Given the description of an element on the screen output the (x, y) to click on. 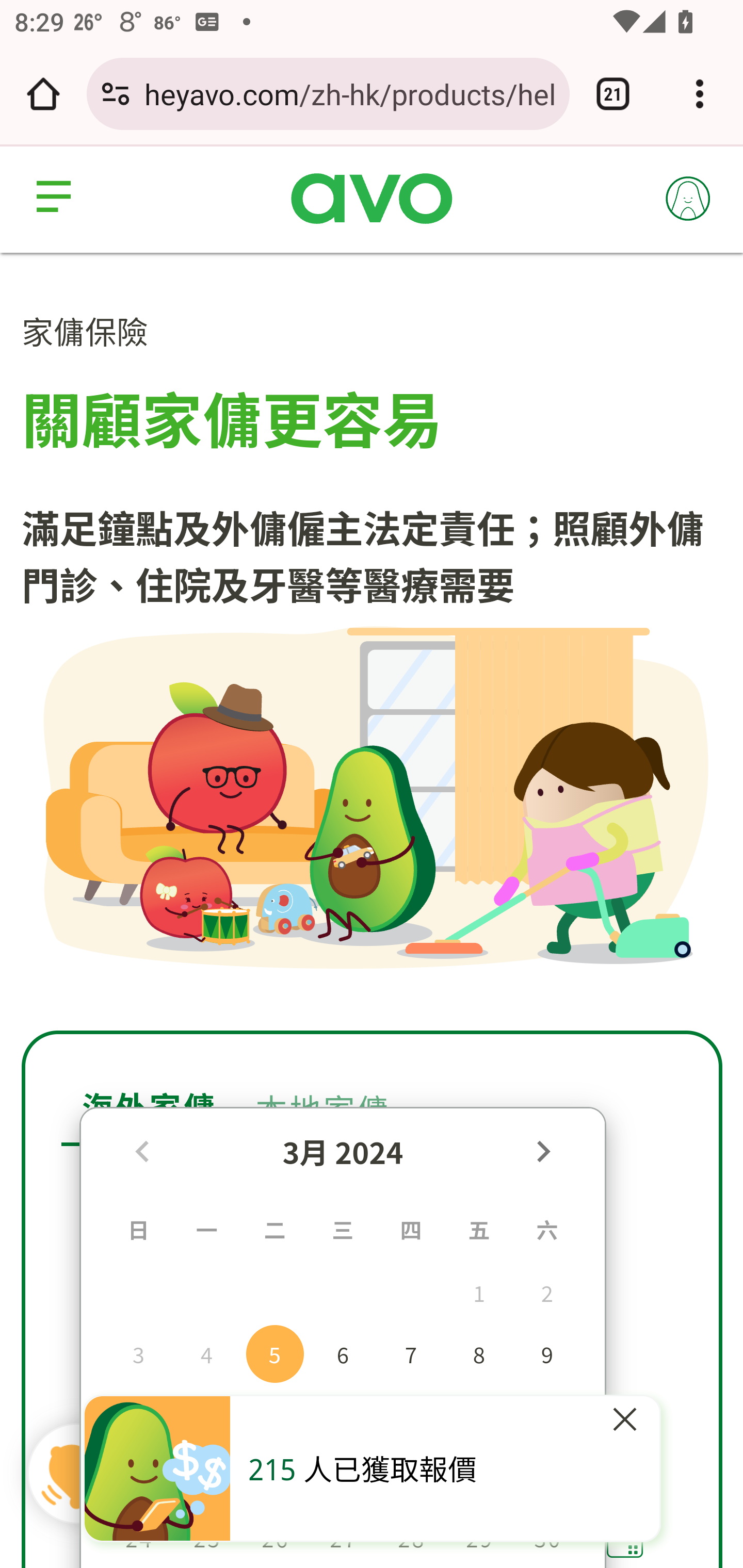
Open the home page (43, 93)
Connection is secure (115, 93)
Switch or close tabs (612, 93)
Customize and control Google Chrome (699, 93)
menu.afb2dfa (56, 198)
Avo Profile (688, 198)
www.heyavo (371, 199)
3月 2024 (343, 1150)
Previous month (141, 1149)
Next month (541, 1149)
1 (478, 1291)
2 (547, 1291)
3 (137, 1353)
4 (206, 1353)
5 (274, 1353)
6 (342, 1353)
7 (410, 1353)
8 (478, 1353)
9 (547, 1353)
